Given the description of an element on the screen output the (x, y) to click on. 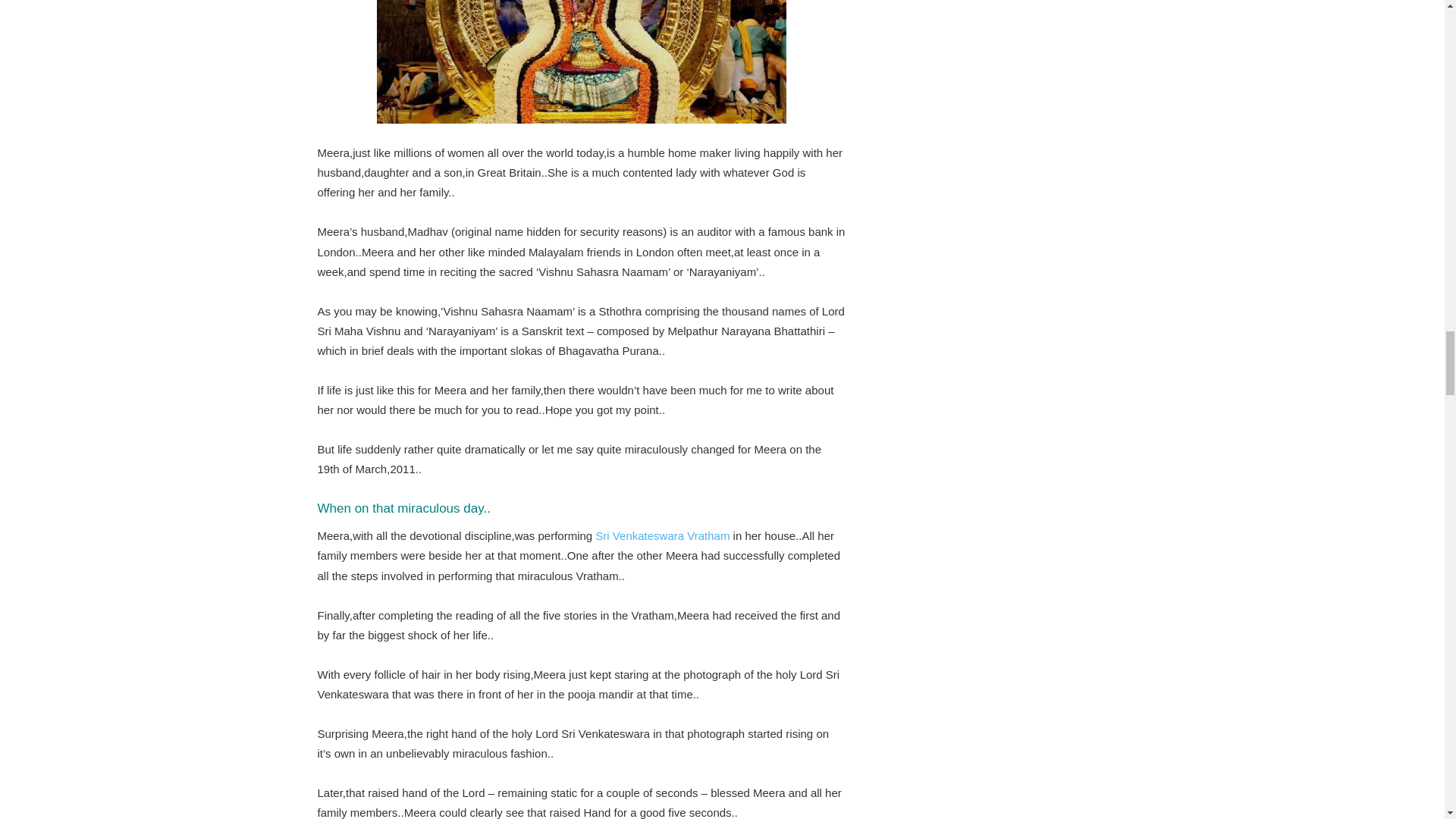
Sri Venkateswara Vratham (662, 535)
